Given the description of an element on the screen output the (x, y) to click on. 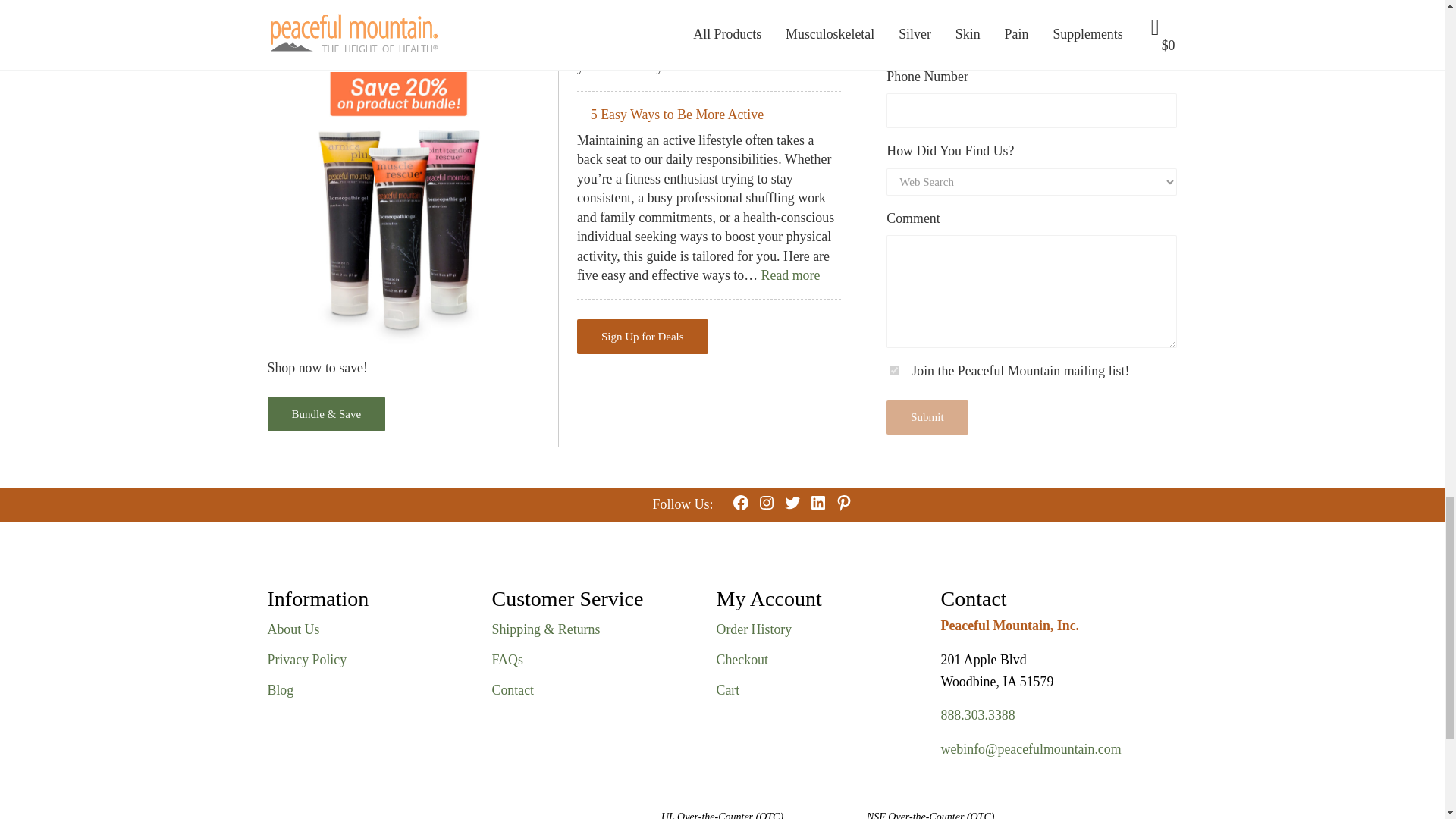
1 (894, 370)
Submit (927, 417)
